Given the description of an element on the screen output the (x, y) to click on. 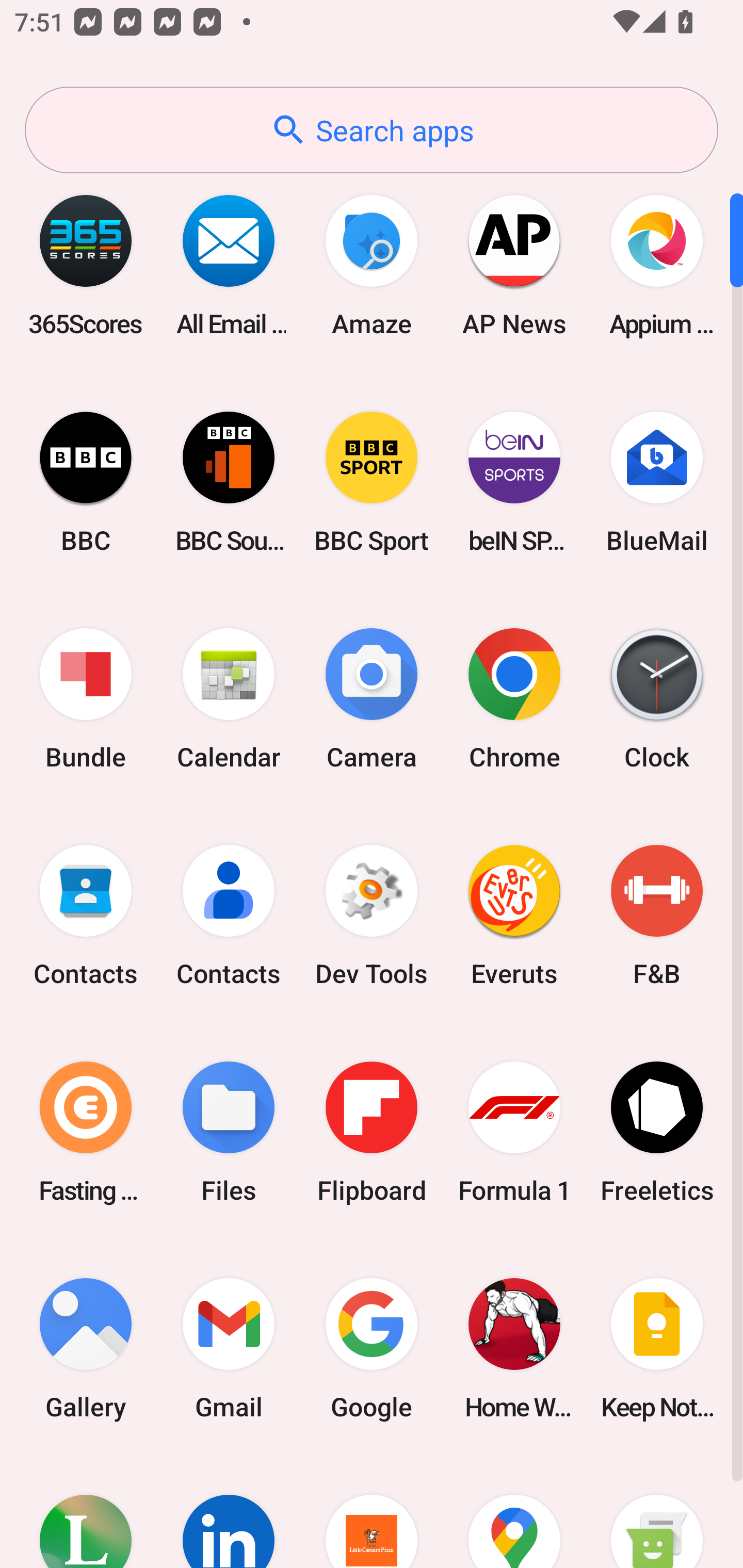
  Search apps (371, 130)
365Scores (85, 264)
All Email Connect (228, 264)
Amaze (371, 264)
AP News (514, 264)
Appium Settings (656, 264)
BBC (85, 482)
BBC Sounds (228, 482)
BBC Sport (371, 482)
beIN SPORTS (514, 482)
BlueMail (656, 482)
Bundle (85, 699)
Calendar (228, 699)
Camera (371, 699)
Chrome (514, 699)
Clock (656, 699)
Contacts (85, 915)
Contacts (228, 915)
Dev Tools (371, 915)
Everuts (514, 915)
F&B (656, 915)
Fasting Coach (85, 1131)
Files (228, 1131)
Flipboard (371, 1131)
Formula 1 (514, 1131)
Freeletics (656, 1131)
Gallery (85, 1348)
Gmail (228, 1348)
Google (371, 1348)
Home Workout (514, 1348)
Keep Notes (656, 1348)
Lifesum (85, 1512)
LinkedIn (228, 1512)
Little Caesars Pizza (371, 1512)
Maps (514, 1512)
Messaging (656, 1512)
